Given the description of an element on the screen output the (x, y) to click on. 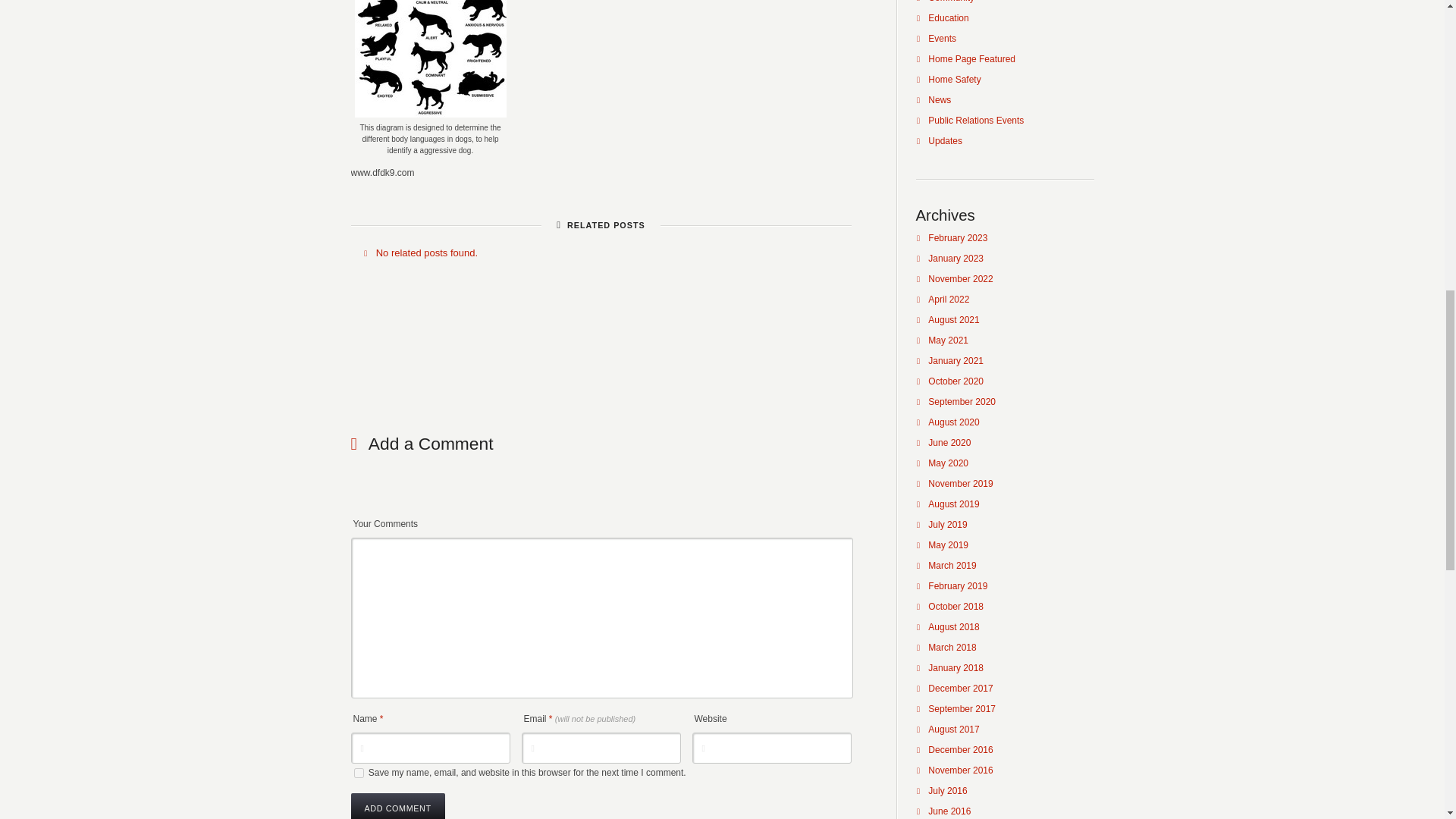
July 2019 (947, 524)
Events (942, 38)
September 2020 (961, 401)
Home Safety (953, 79)
February 2019 (957, 585)
August 2021 (953, 319)
August 2020 (953, 421)
Add Comment (397, 806)
October 2018 (956, 606)
January 2023 (956, 258)
yes (357, 773)
March 2019 (951, 565)
November 2019 (960, 483)
Home Page Featured (971, 59)
Public Relations Events (975, 120)
